Given the description of an element on the screen output the (x, y) to click on. 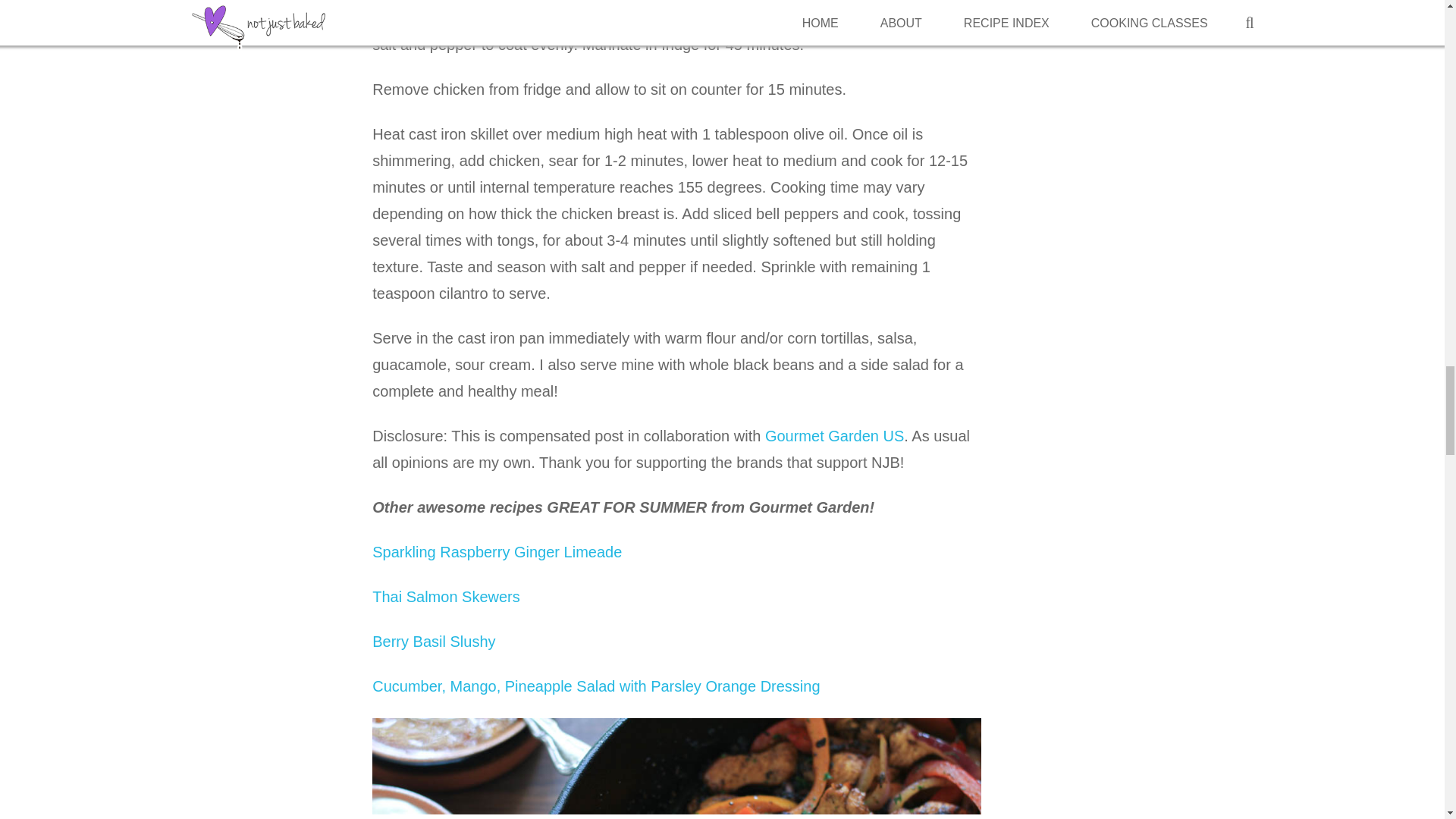
Berry Basil Slushy (433, 641)
Thai Salmon Skewers (445, 596)
Sparkling Raspberry Ginger Limeade (496, 551)
Gourmet Garden US (834, 435)
